Given the description of an element on the screen output the (x, y) to click on. 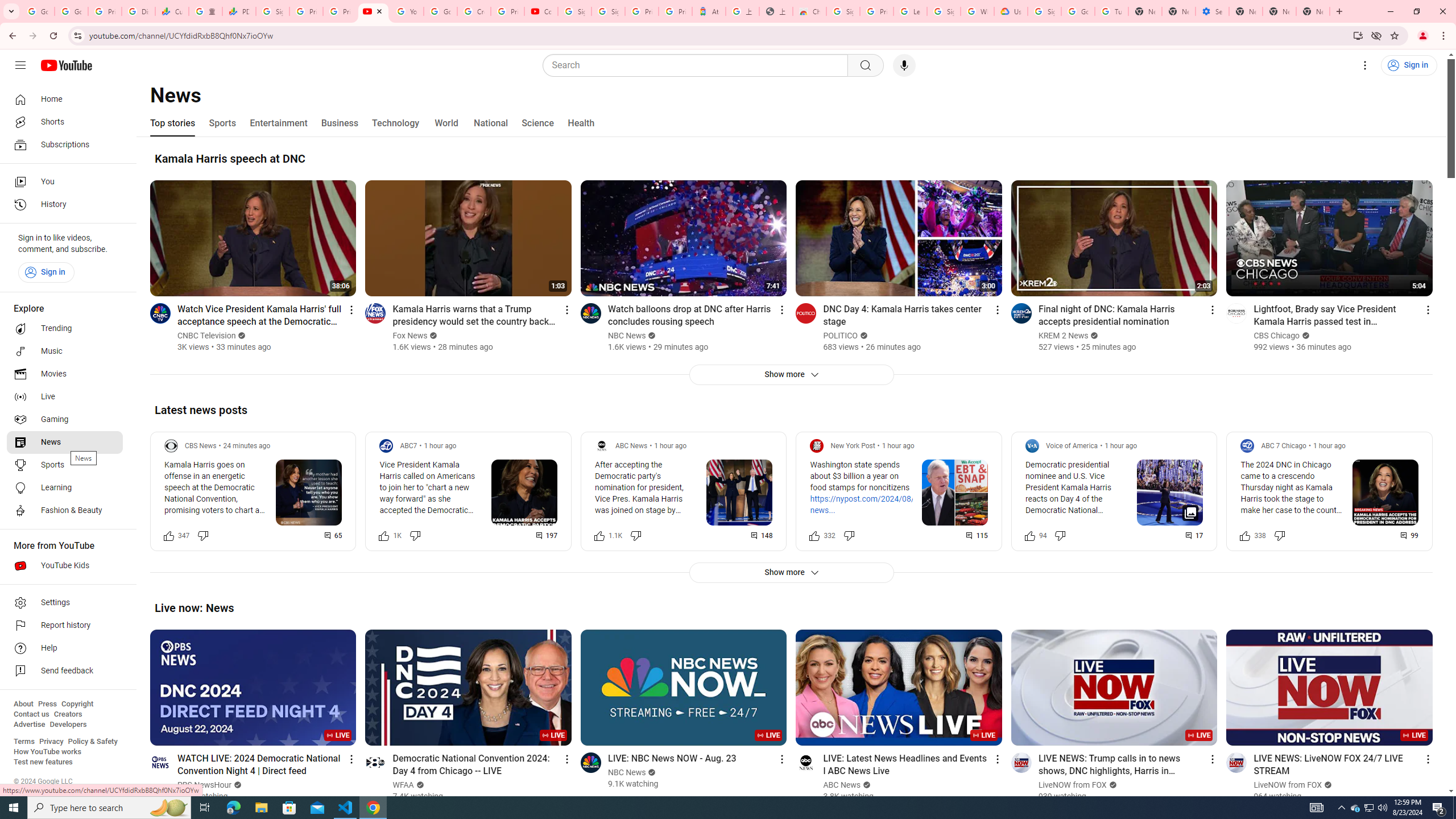
Press (46, 703)
Google Account Help (441, 11)
PDD Holdings Inc - ADR (PDD) Price & News - Google Finance (238, 11)
Third-party cookies blocked (1376, 35)
Settings (64, 602)
YouTube Home (66, 65)
Fashion & Beauty (64, 510)
